Given the description of an element on the screen output the (x, y) to click on. 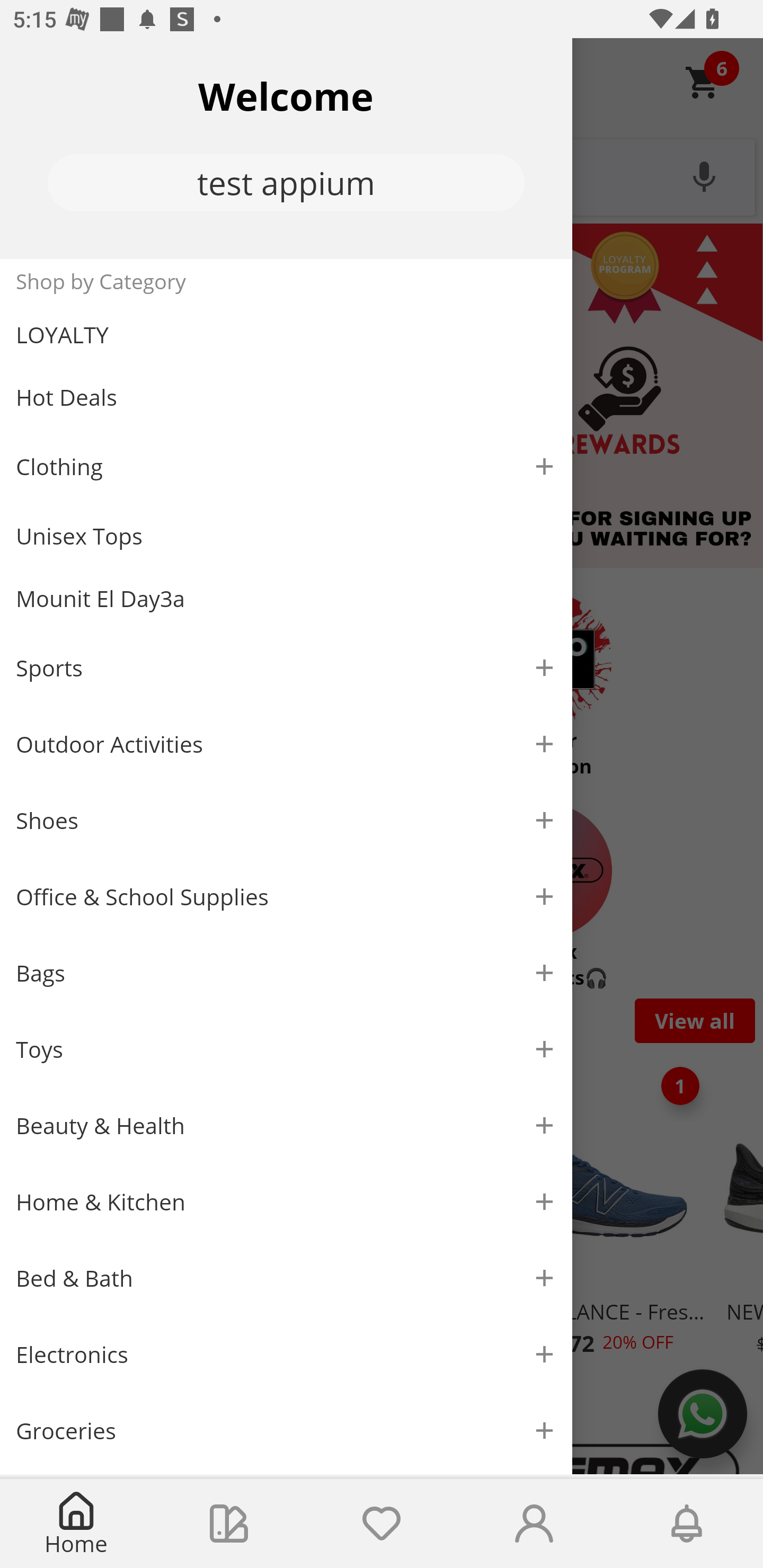
Welcome test appium (286, 147)
What are you looking for? (381, 175)
LOYALTY (286, 334)
Hot Deals (286, 396)
Clothing (286, 466)
Unisex Tops (286, 535)
Mounit El Day3a (286, 598)
Sports (286, 667)
Outdoor Activities (286, 743)
Shoes (286, 820)
Office & School Supplies (286, 896)
Bags (286, 972)
Toys (286, 1049)
Beauty & Health (286, 1125)
Home & Kitchen (286, 1201)
Bed & Bath (286, 1278)
Electronics (286, 1354)
Groceries (286, 1430)
Collections (228, 1523)
Wishlist (381, 1523)
Account (533, 1523)
Notifications (686, 1523)
